Given the description of an element on the screen output the (x, y) to click on. 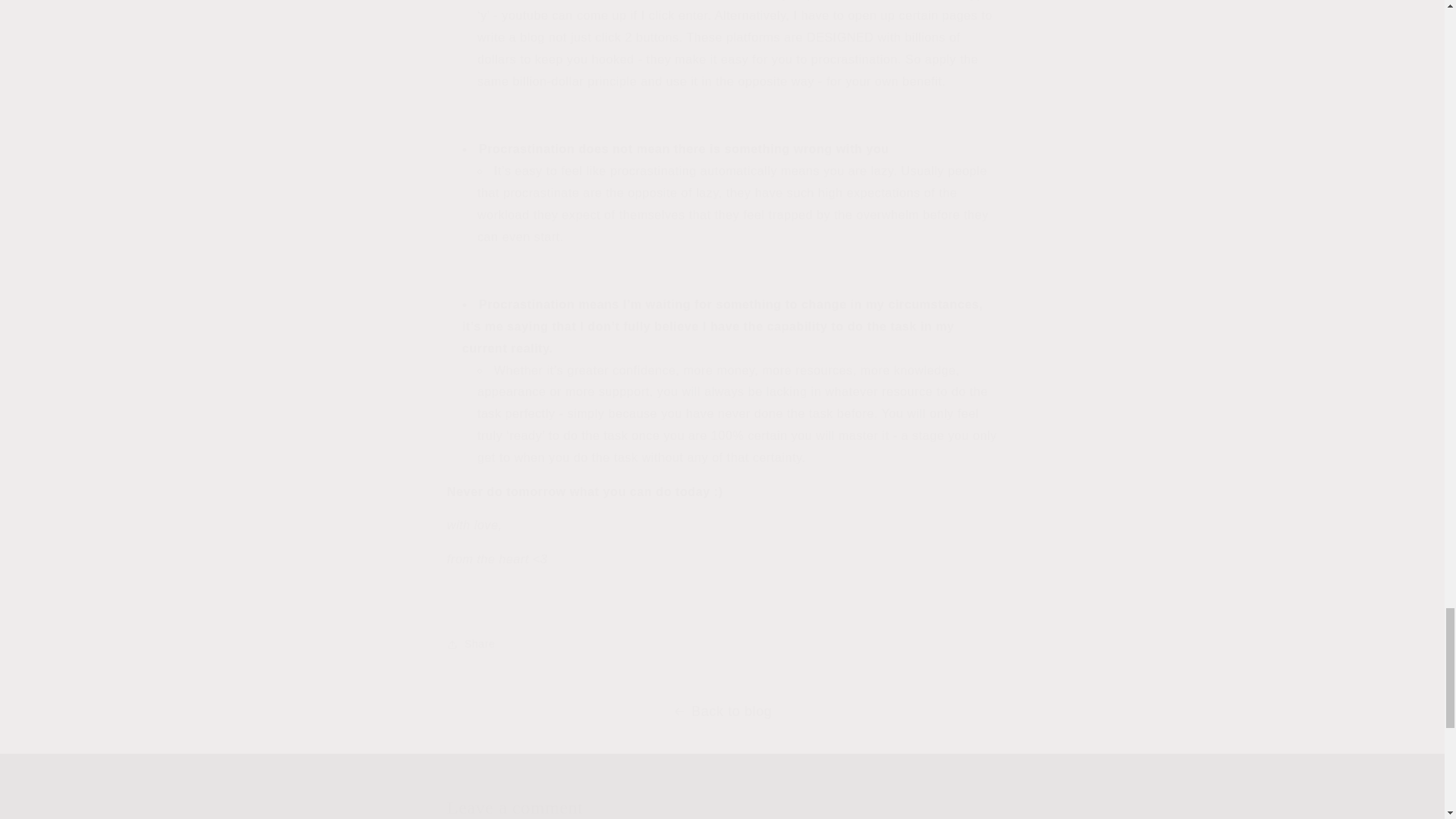
Share (721, 644)
